Given the description of an element on the screen output the (x, y) to click on. 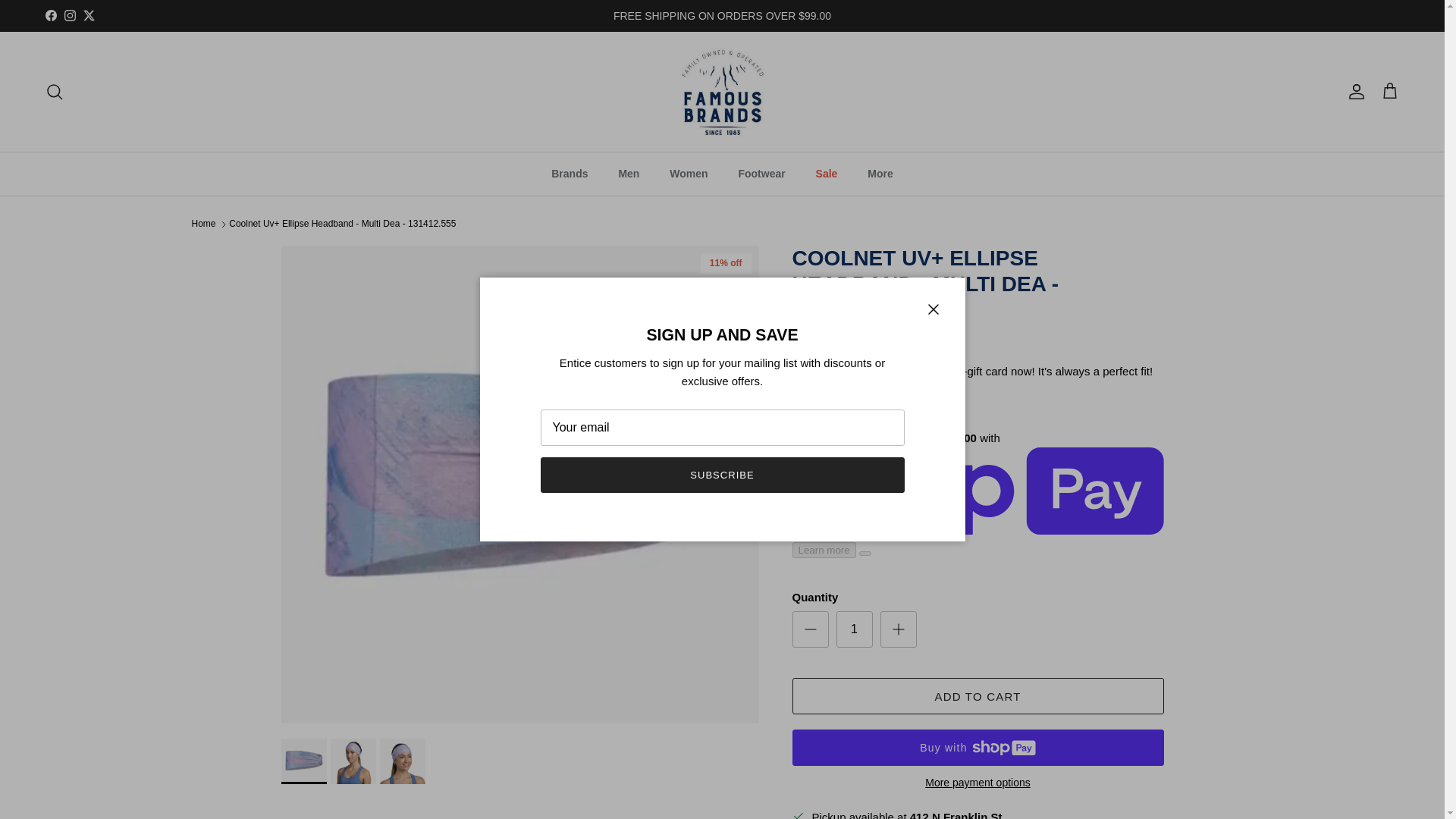
Instagram (69, 15)
1 (853, 628)
famous-brands-outlet-ny on Instagram (69, 15)
Search (54, 91)
famous-brands-outlet-ny on Twitter (88, 15)
famous-brands-outlet-ny (722, 91)
Brands (569, 173)
famous-brands-outlet-ny on Facebook (50, 15)
Facebook (50, 15)
Account (1352, 91)
Twitter (88, 15)
Cart (1389, 91)
